Given the description of an element on the screen output the (x, y) to click on. 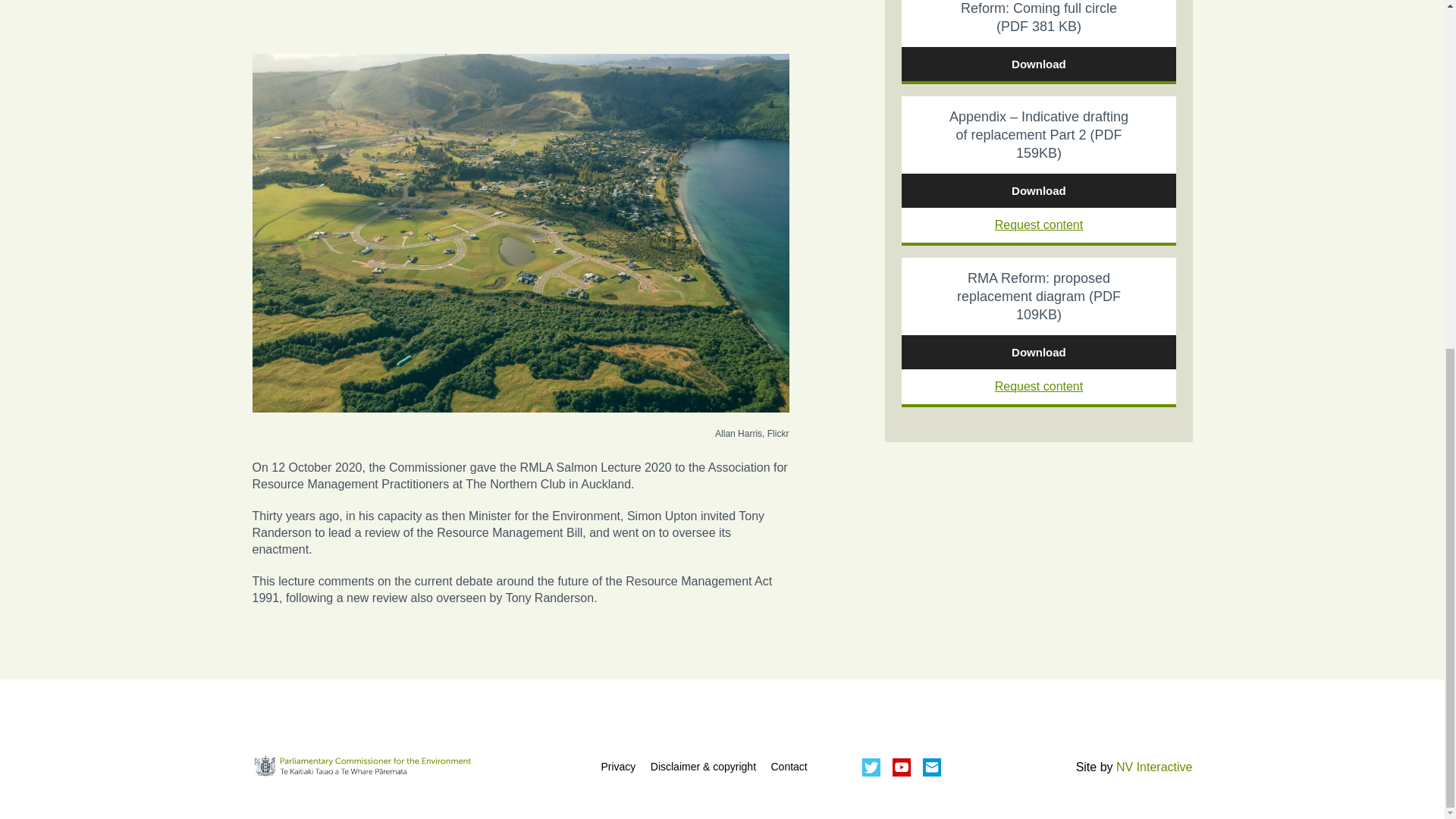
Email (931, 767)
Disclaimer and copyright (702, 766)
Privacy (616, 766)
Contact Page (788, 766)
YouTube (901, 767)
Twitter (871, 767)
